Given the description of an element on the screen output the (x, y) to click on. 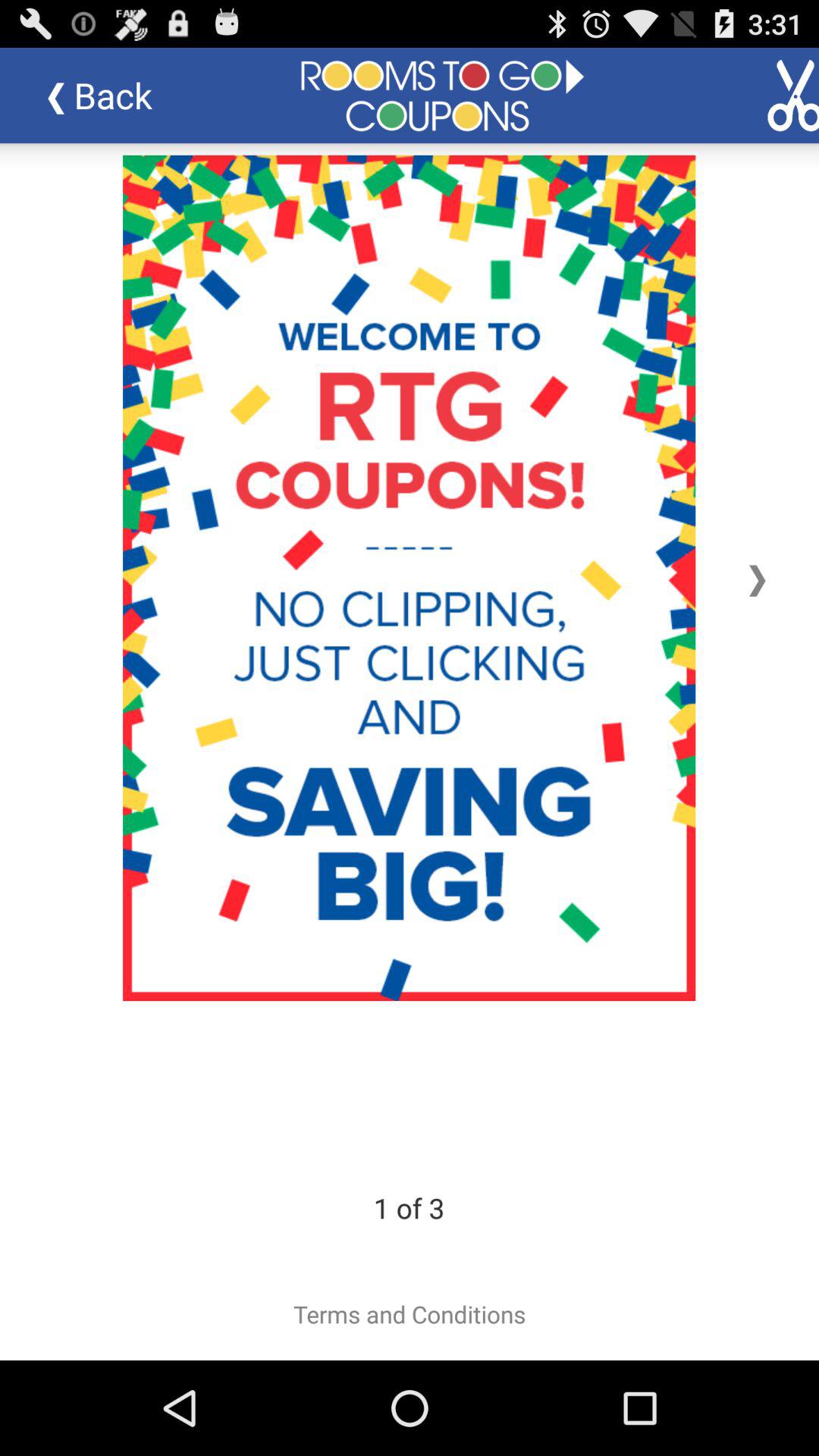
turn on icon at the top left corner (110, 95)
